Given the description of an element on the screen output the (x, y) to click on. 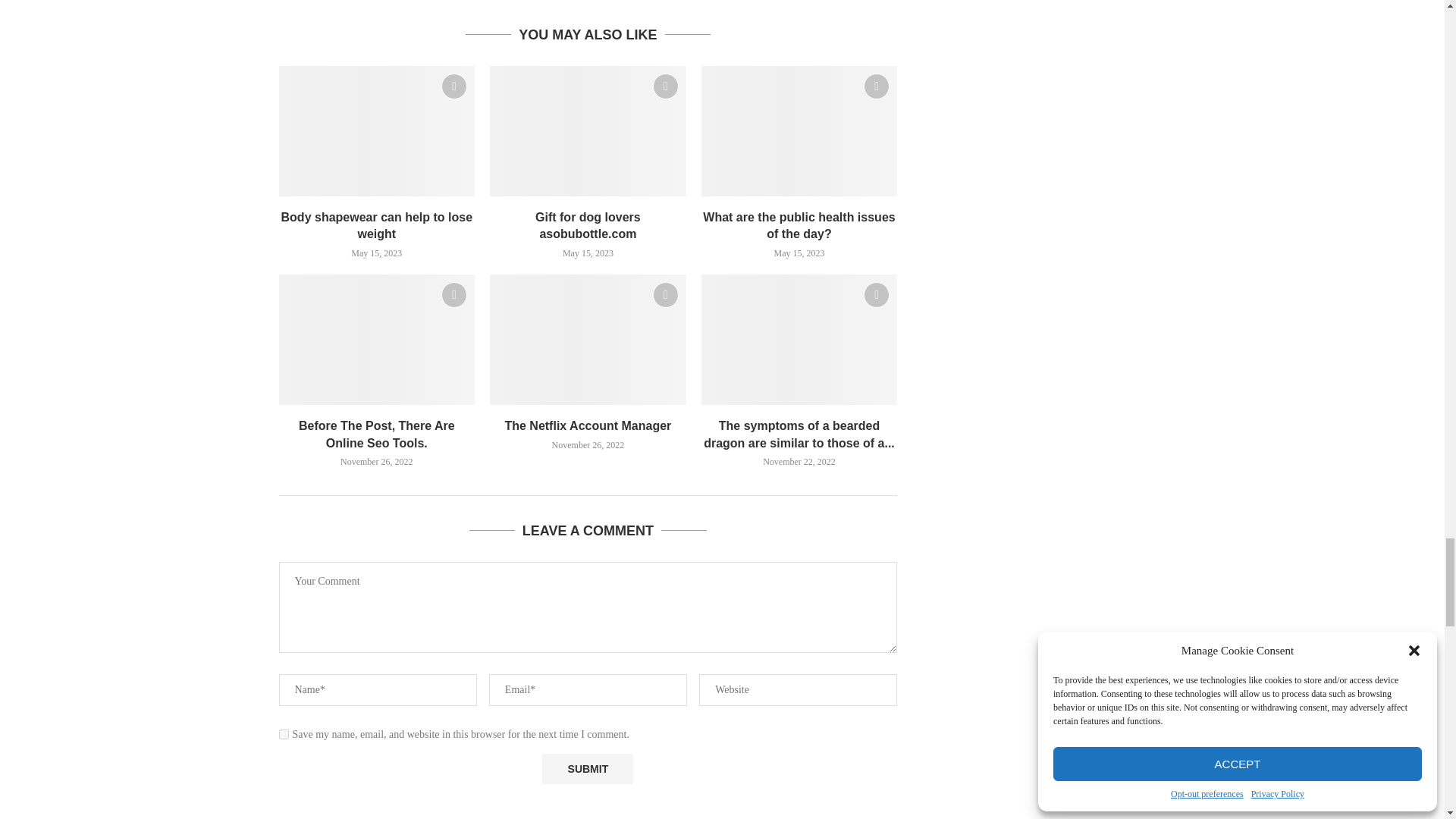
yes (283, 734)
Submit (587, 768)
